Given the description of an element on the screen output the (x, y) to click on. 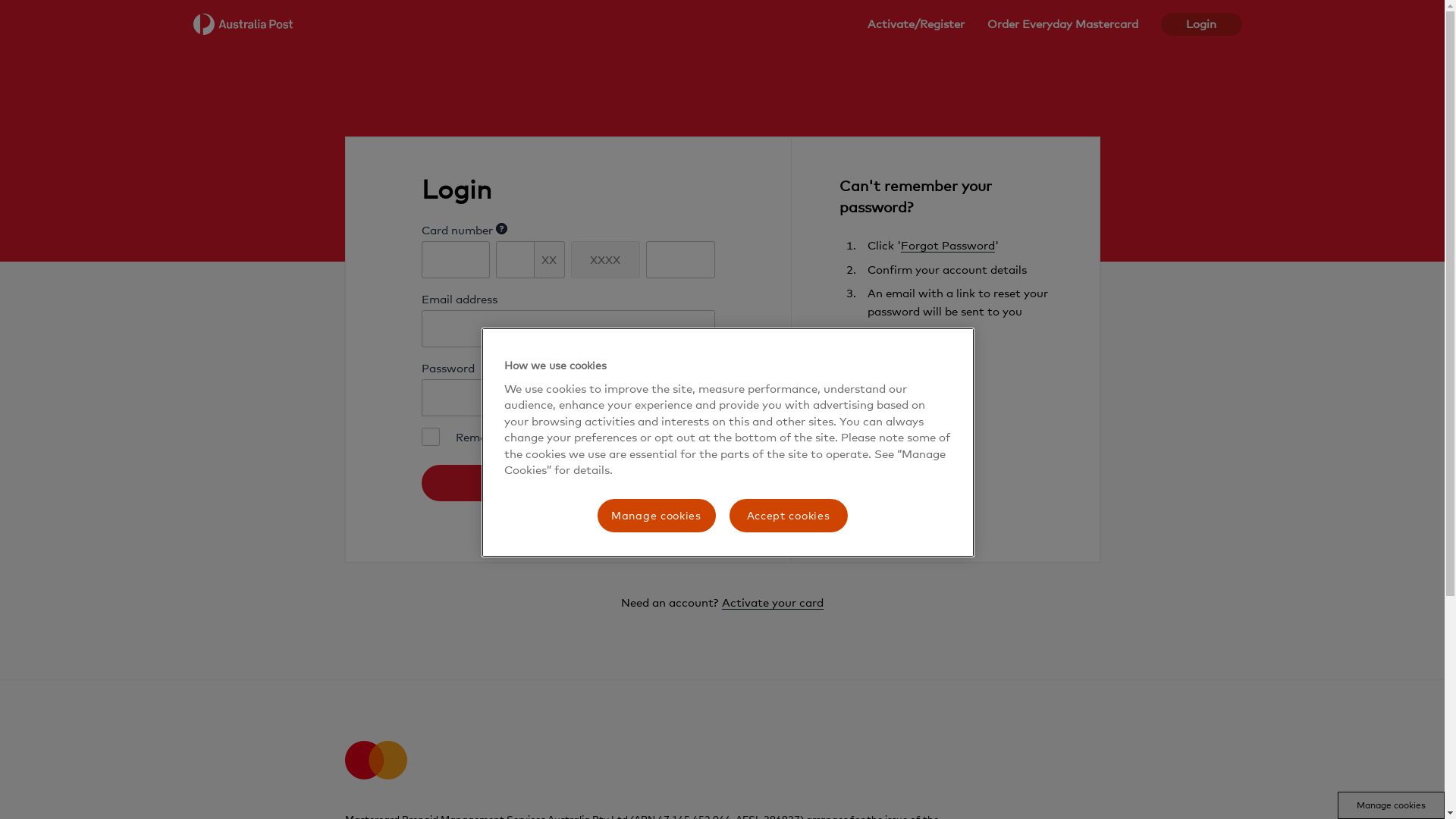
Forgot Password Element type: text (947, 245)
Order Everyday Mastercard Element type: text (1061, 23)
Activate your card Element type: text (772, 602)
Manage cookies Element type: text (656, 515)
MasterCard Element type: hover (375, 764)
Login Element type: text (568, 482)
Activate/Register Element type: text (915, 23)
Can't remember your password? Element type: text (914, 195)
Forgot password? Element type: text (664, 436)
Login Element type: text (1200, 23)
Accept cookies Element type: text (788, 515)
